Given the description of an element on the screen output the (x, y) to click on. 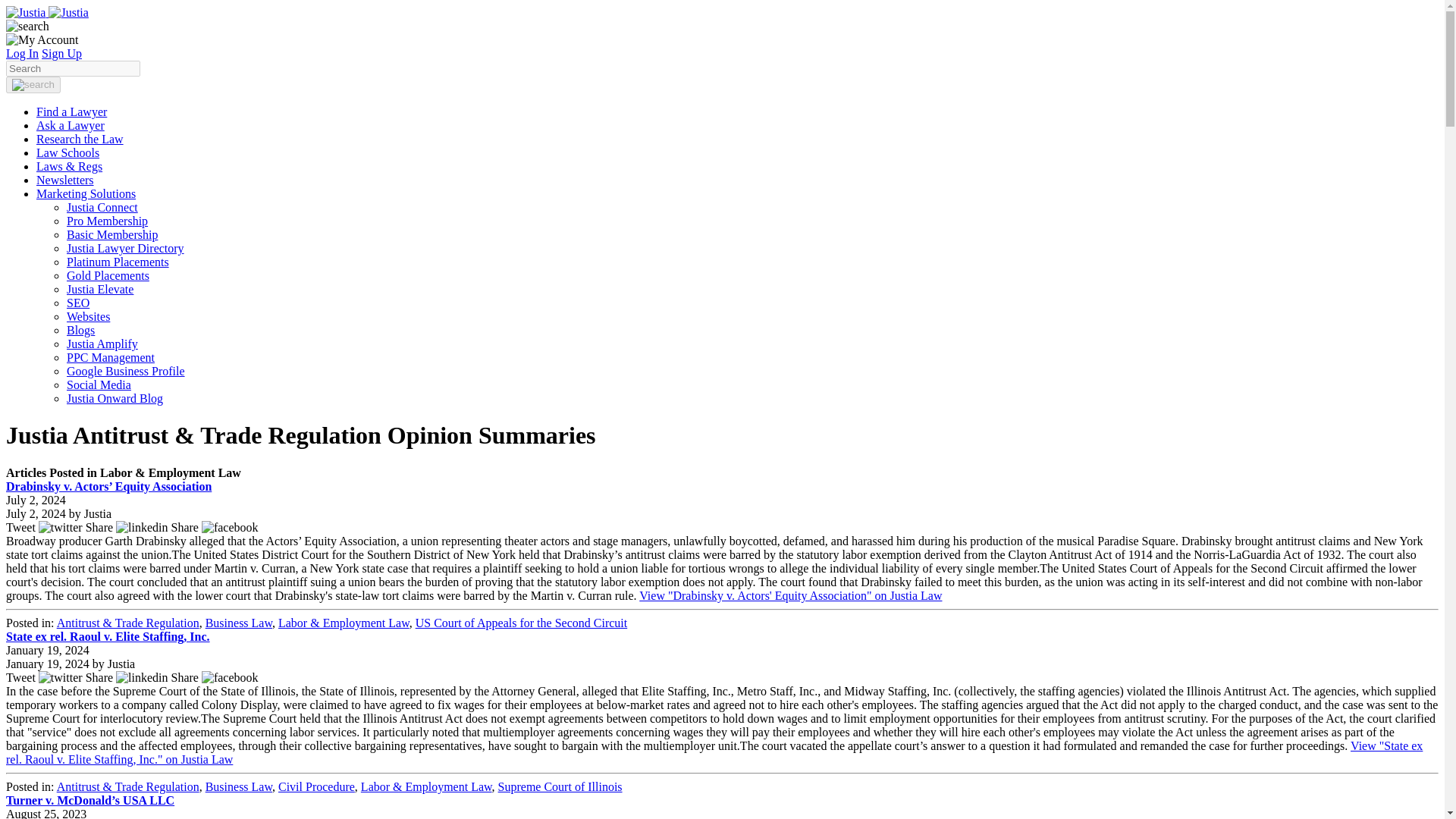
Search (72, 68)
View all posts in US Court of Appeals for the Second Circuit (520, 622)
Justia Amplify (102, 343)
Tweet (45, 676)
Share (128, 526)
Marketing Solutions (85, 193)
Share (215, 676)
Sign Up (61, 52)
Google Business Profile (125, 370)
Permalink to State ex rel. Raoul v. Elite Staffing, Inc. (107, 635)
View "Drabinsky v. Actors' Equity Association" on Justia Law (790, 594)
State ex rel. Raoul v. Elite Staffing, Inc. (107, 635)
Basic Membership (111, 234)
Share (128, 676)
